Given the description of an element on the screen output the (x, y) to click on. 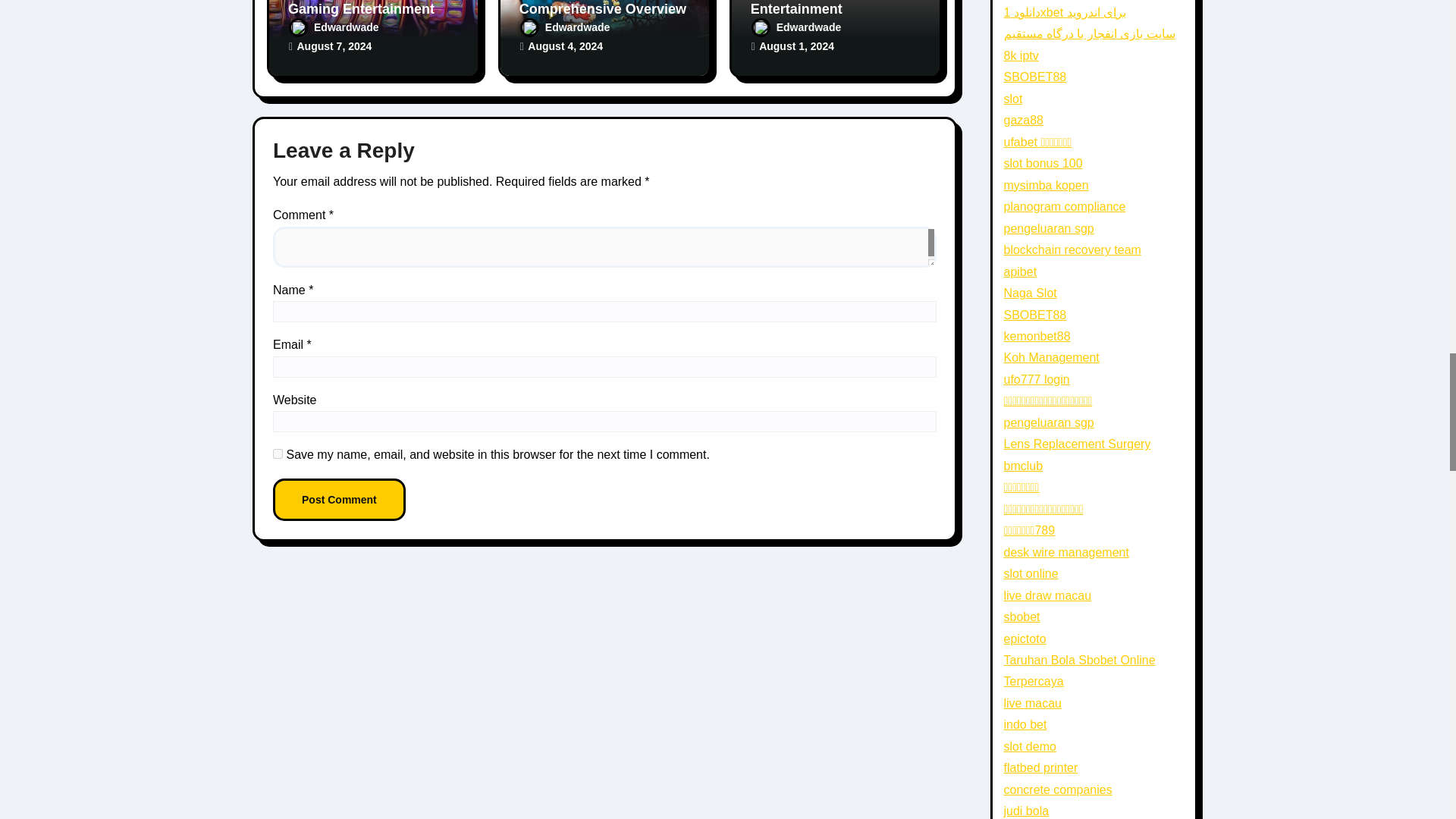
Slot Online: The Future of Gaming Entertainment (371, 8)
Post Comment (339, 499)
yes (277, 453)
August 7, 2024 (334, 46)
Edwardwade (333, 27)
